Given the description of an element on the screen output the (x, y) to click on. 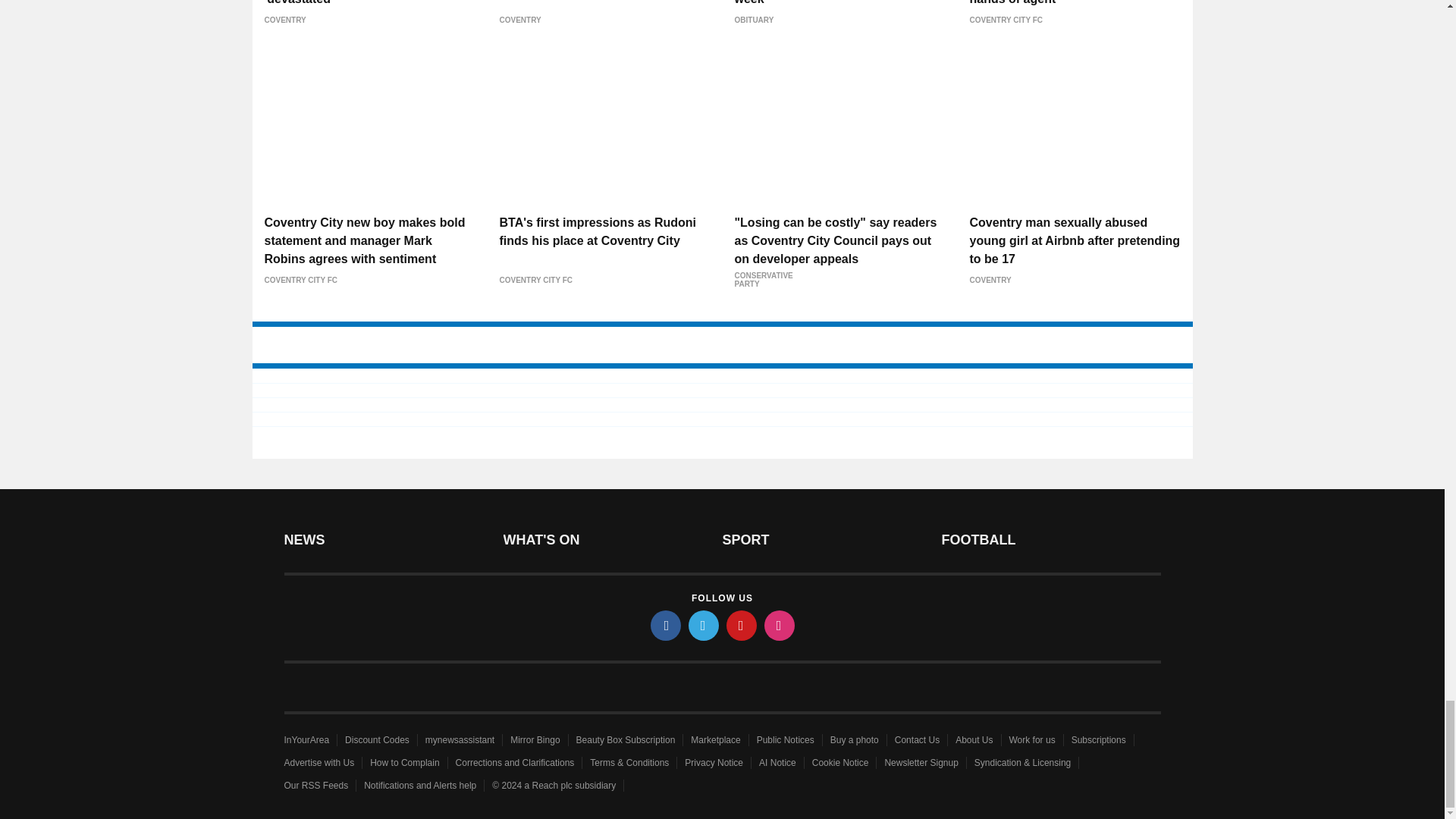
facebook (665, 625)
pinterest (741, 625)
instagram (779, 625)
twitter (703, 625)
